Given the description of an element on the screen output the (x, y) to click on. 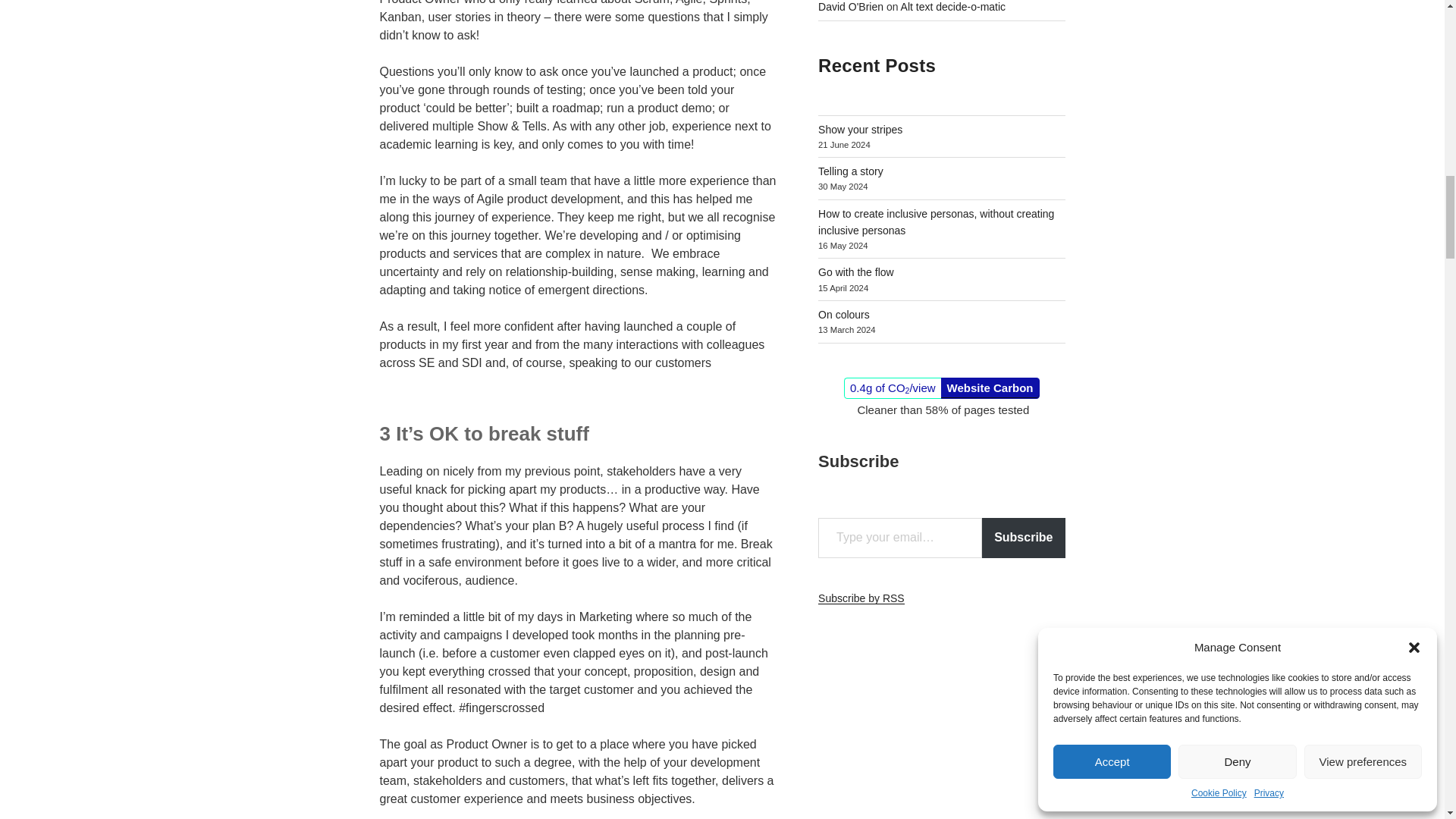
Please fill in this field. (899, 537)
